Given the description of an element on the screen output the (x, y) to click on. 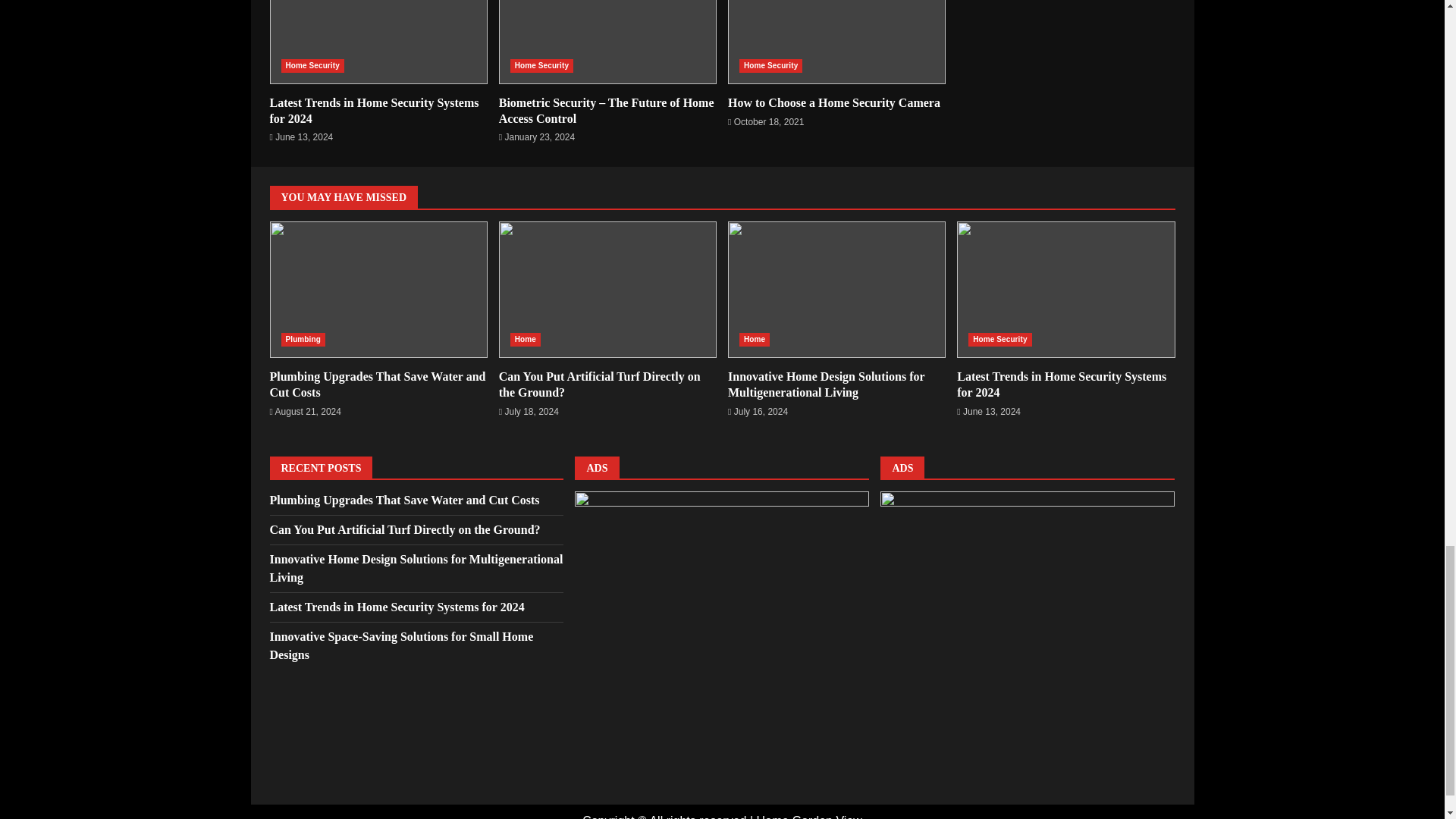
Home Security (770, 65)
Home Security (312, 65)
How to Choose a Home Security Camera (836, 42)
Can You Put Artificial Turf Directly on the Ground? (607, 289)
Plumbing Upgrades That Save Water and Cut Costs (378, 289)
Plumbing Upgrades That Save Water and Cut Costs (377, 384)
Home Security (542, 65)
Latest Trends in Home Security Systems for 2024 (1061, 384)
Latest Trends in Home Security Systems for 2024 (374, 110)
